Given the description of an element on the screen output the (x, y) to click on. 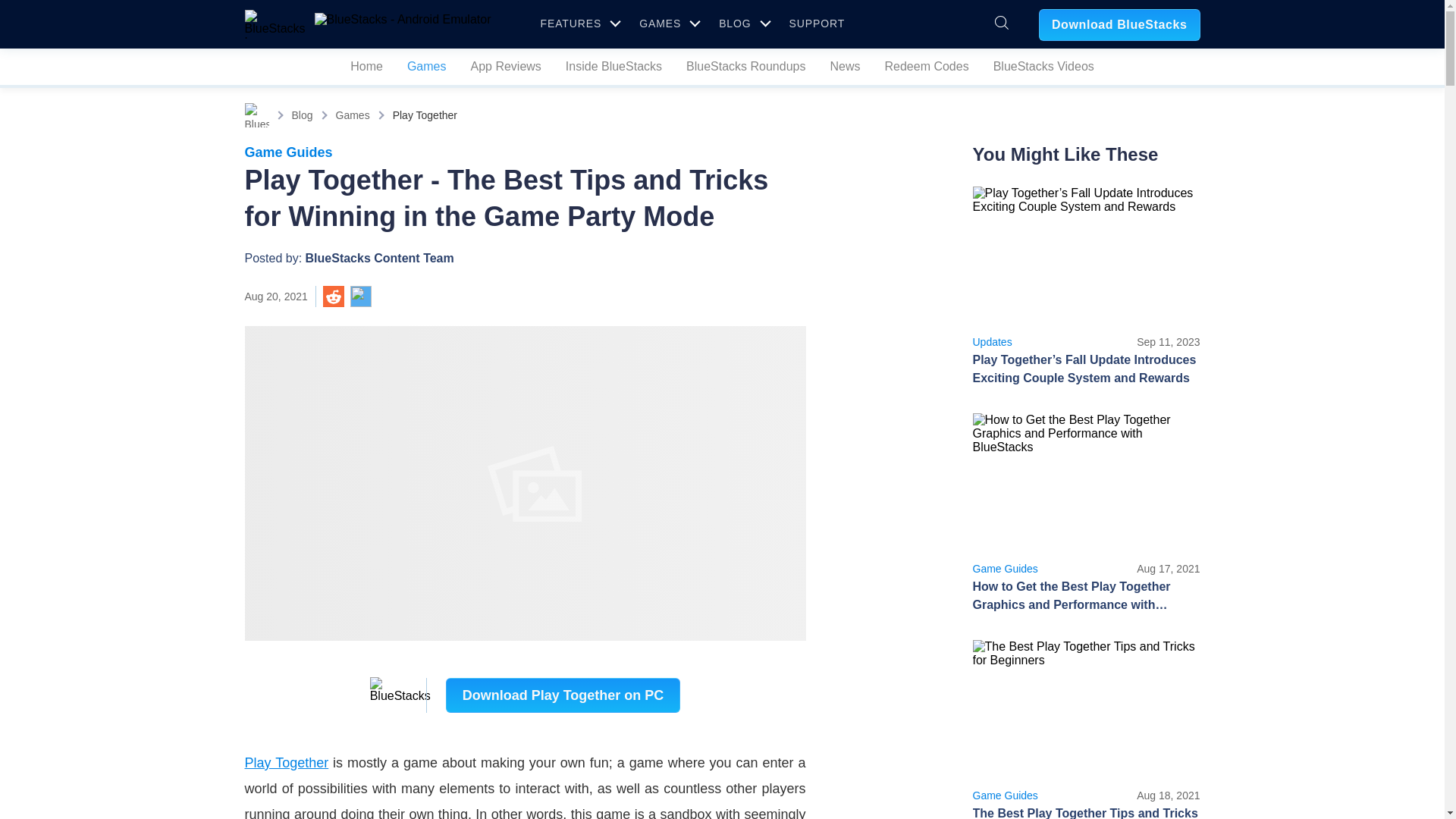
FEATURES (577, 22)
BLOG (742, 22)
GAMES (667, 22)
